Given the description of an element on the screen output the (x, y) to click on. 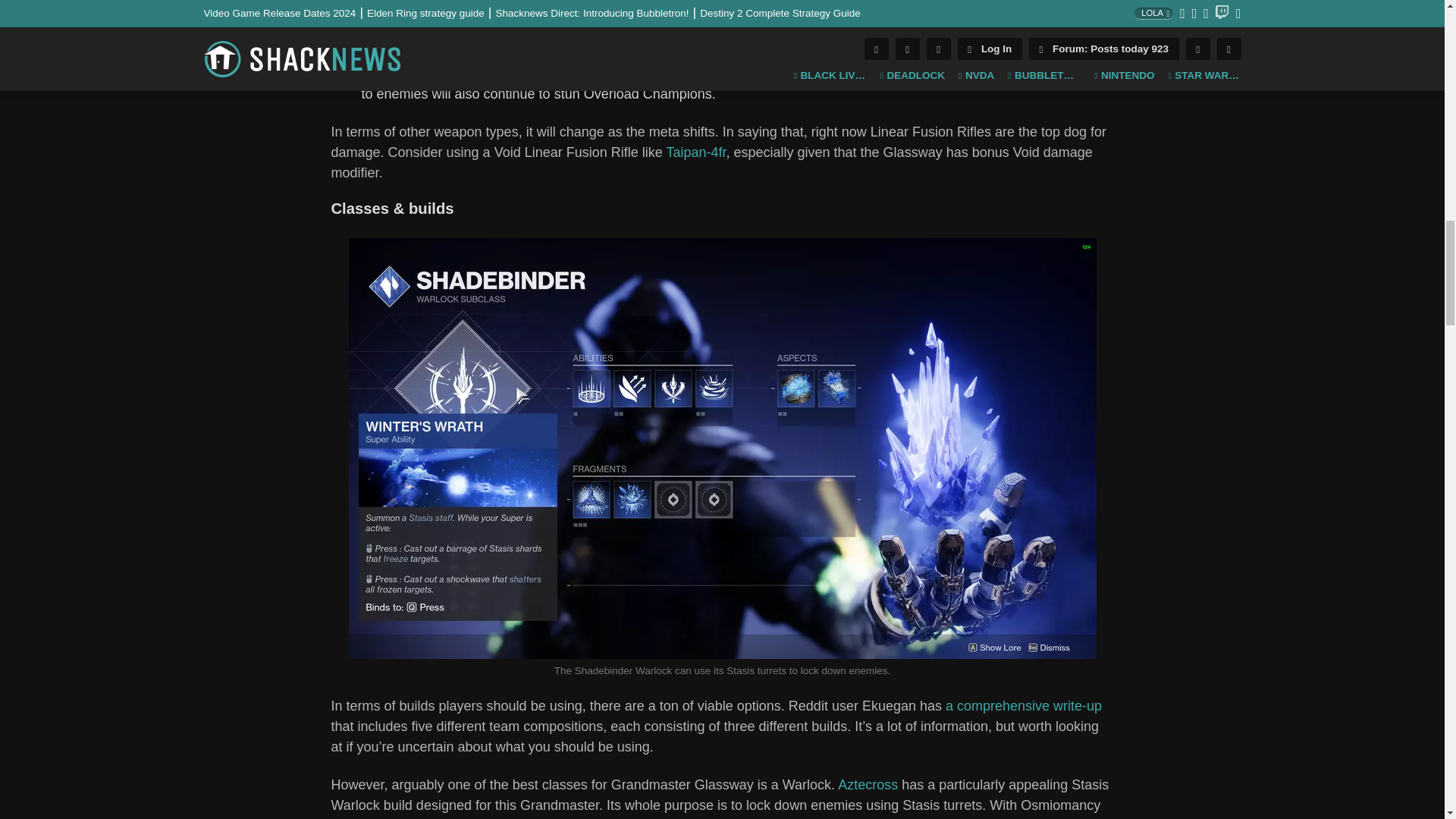
Taipan-4fr god roll (695, 151)
Aztecross' YouTube video (868, 784)
Ekuegan's Reddit post (1023, 705)
All Destiny 2 Exotic Catalysts (592, 32)
